Given the description of an element on the screen output the (x, y) to click on. 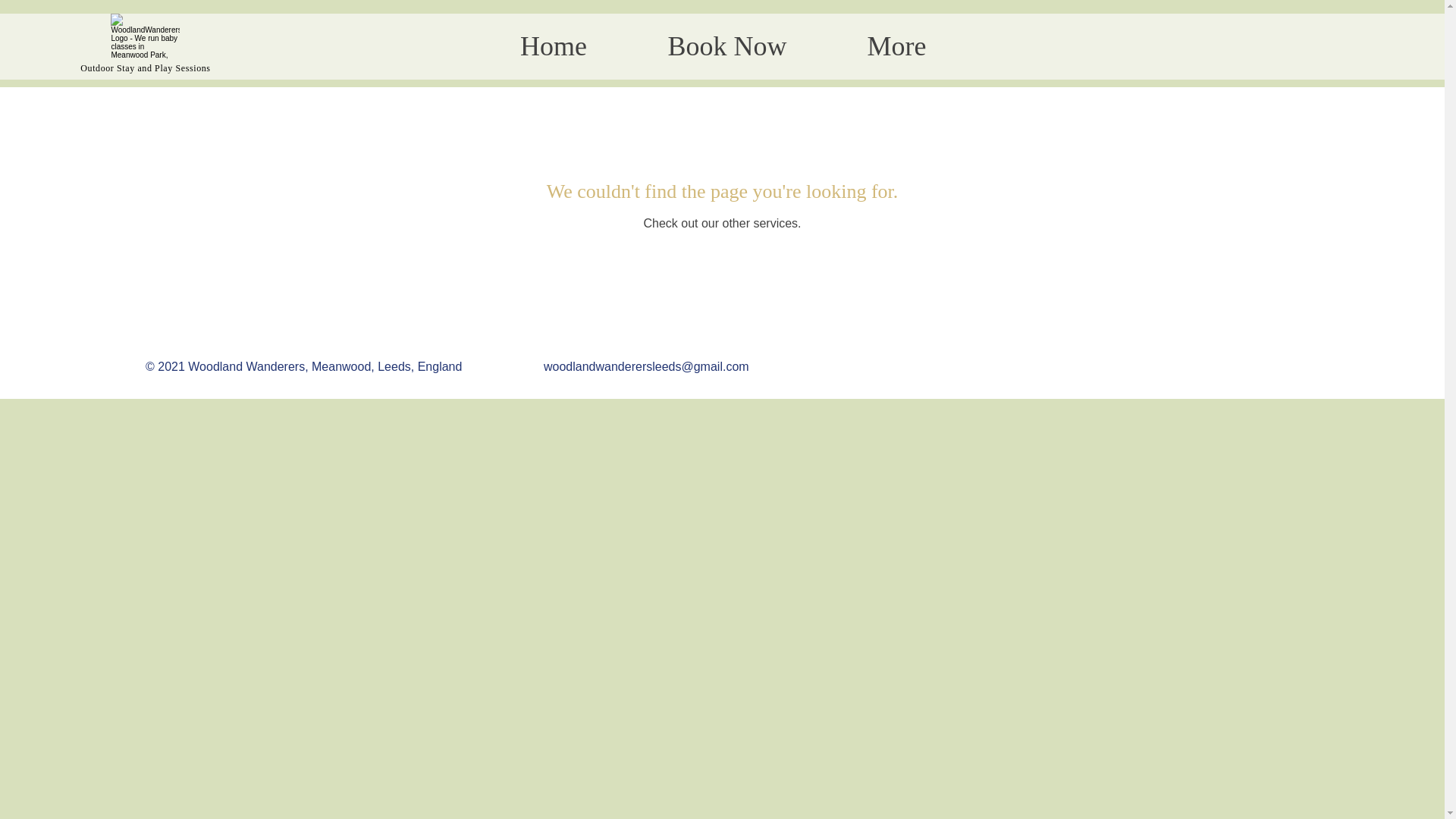
Woodland Wanderers Logo (144, 36)
Book Now (727, 45)
Home (553, 45)
